Given the description of an element on the screen output the (x, y) to click on. 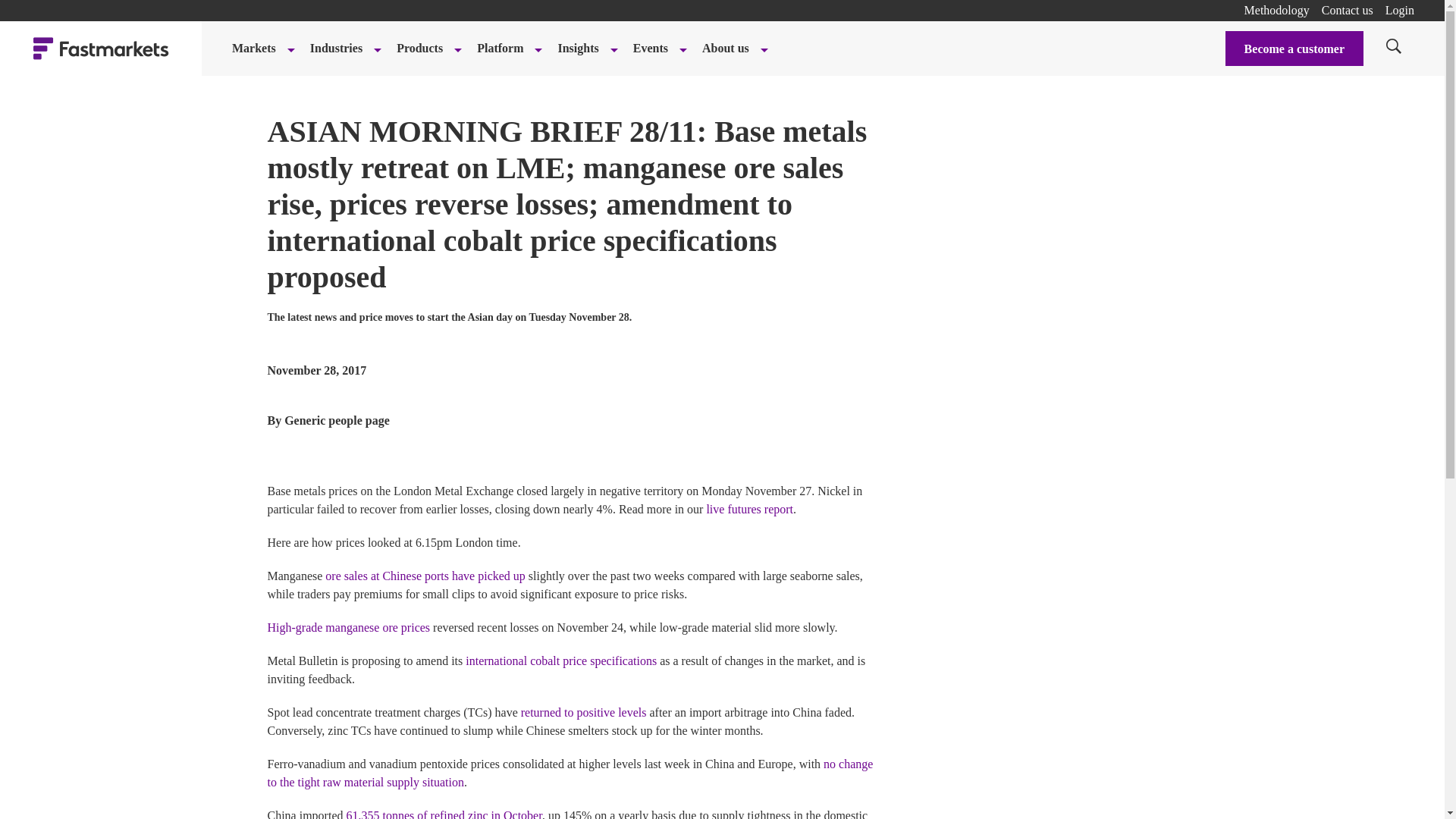
Login (1399, 10)
Contact us (1347, 10)
Methodology (1276, 10)
